Given the description of an element on the screen output the (x, y) to click on. 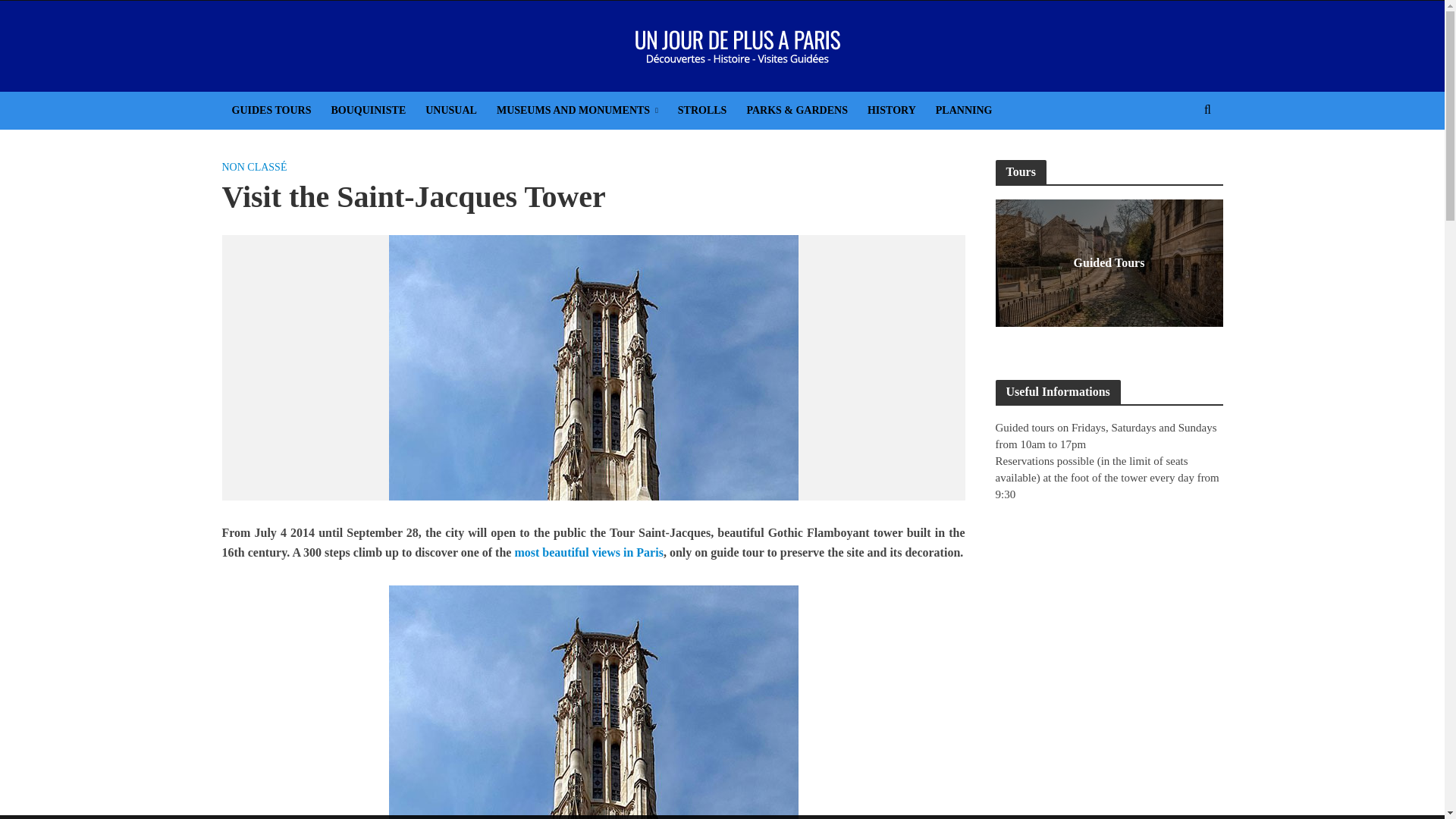
HISTORY (891, 110)
GUIDES TOURS (270, 110)
MUSEUMS AND MONUMENTS (577, 110)
STROLLS (702, 110)
PLANNING (964, 110)
Guided Tours (1108, 262)
UNUSUAL (450, 110)
Les plus belles vues de Paris (587, 553)
most beautiful views in Paris (587, 553)
BOUQUINISTE (367, 110)
